Given the description of an element on the screen output the (x, y) to click on. 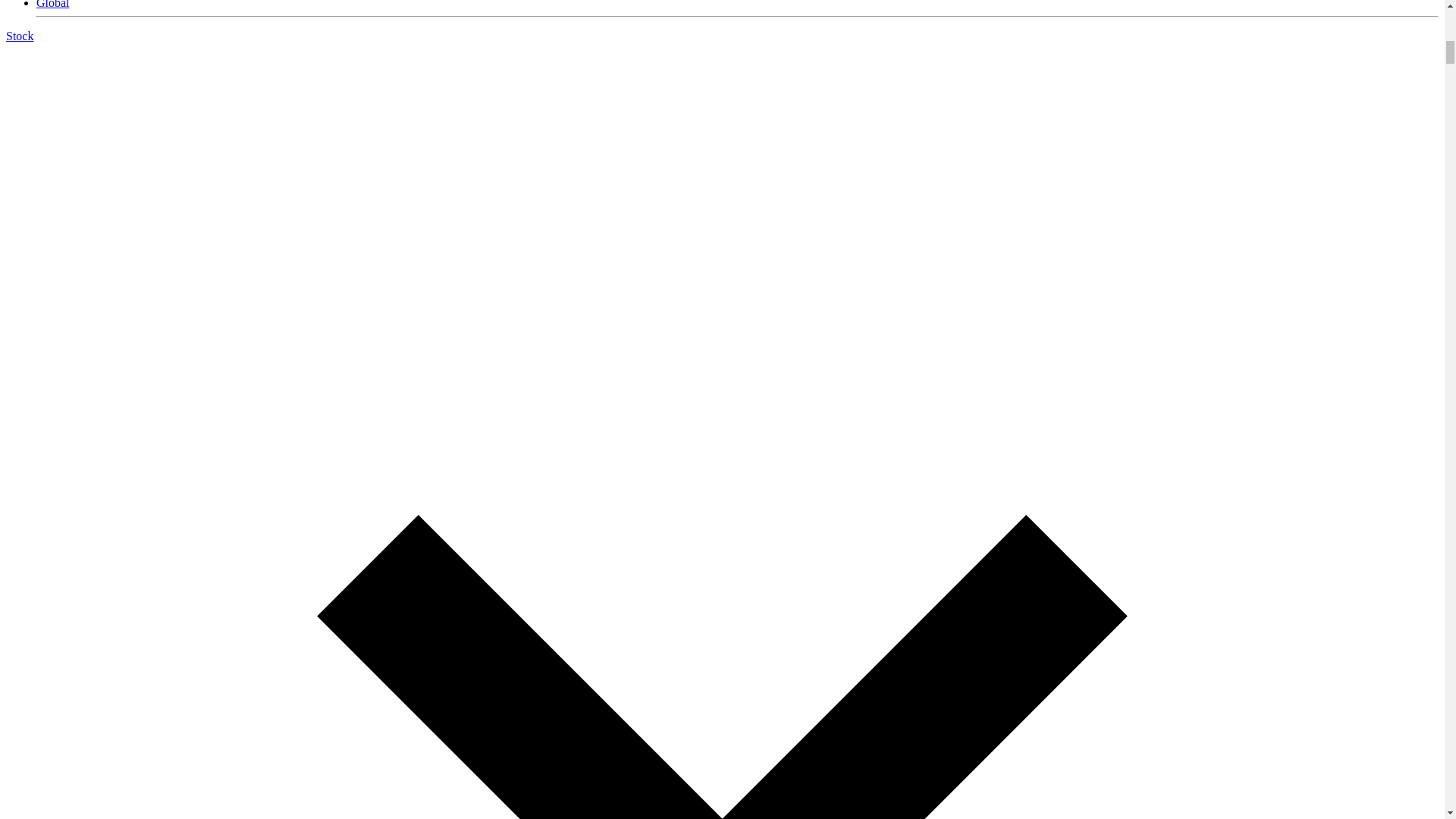
Global (52, 4)
